Given the description of an element on the screen output the (x, y) to click on. 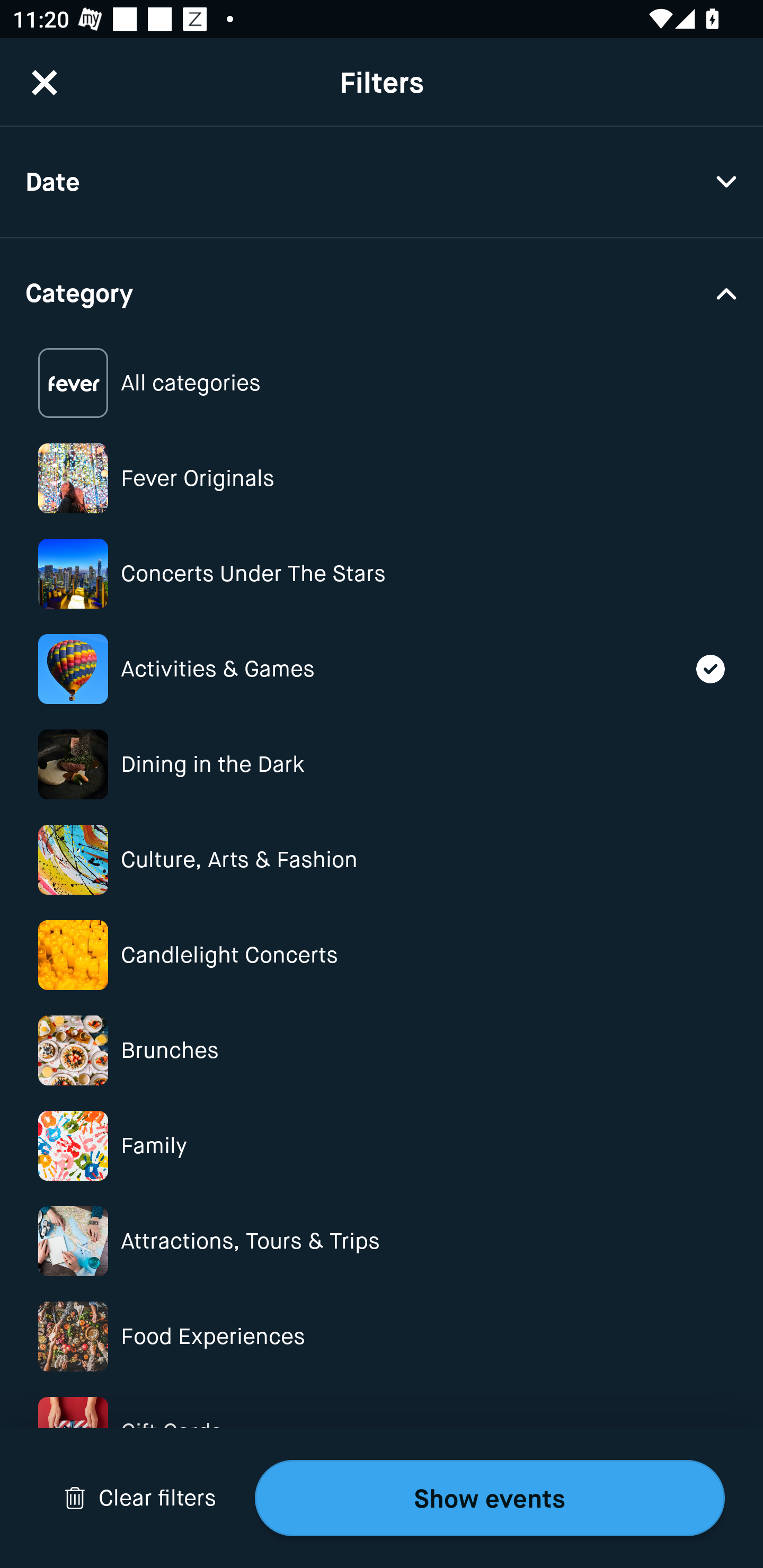
CloseButton (44, 82)
Date Drop Down Arrow (381, 182)
Category Drop Down Arrow (381, 291)
Category Image All categories (381, 382)
Category Image Fever Originals (381, 477)
Category Image Concerts Under The Stars (381, 573)
Category Image Activities & Games Selected Icon (381, 668)
Category Image Dining in the Dark (381, 763)
Category Image Culture, Arts & Fashion (381, 859)
Category Image Candlelight Concerts (381, 954)
Category Image Brunches (381, 1050)
Category Image Family (381, 1145)
Category Image Attractions, Tours & Trips (381, 1240)
Category Image Food Experiences (381, 1336)
Drop Down Arrow Clear filters (139, 1497)
Show events (489, 1497)
